Given the description of an element on the screen output the (x, y) to click on. 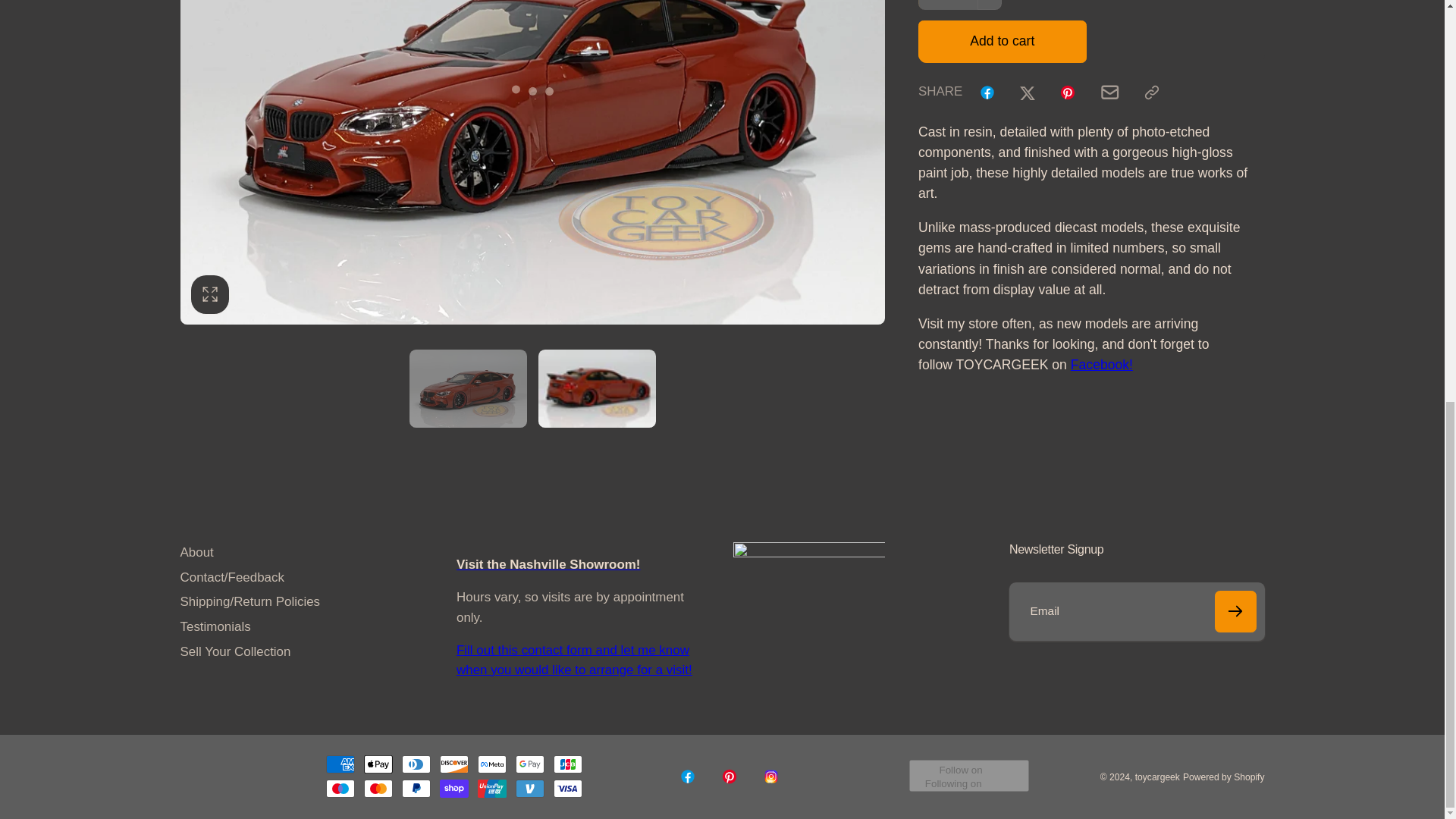
Contact (575, 659)
Visit (548, 564)
1 (959, 4)
